Given the description of an element on the screen output the (x, y) to click on. 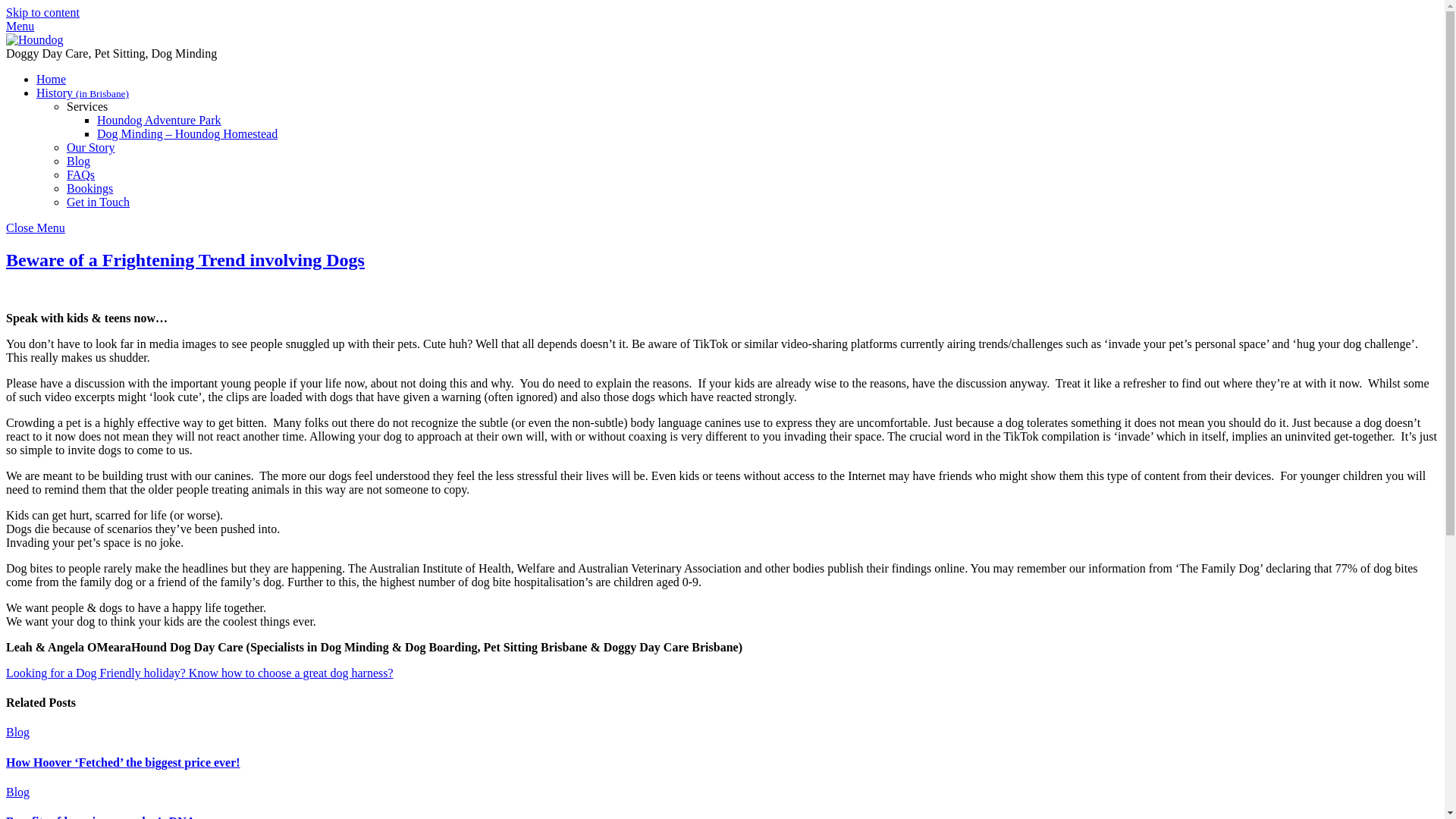
Houndog Adventure Park (159, 119)
Menu (19, 25)
FAQs (80, 174)
Houndog (34, 39)
Close Menu (35, 227)
Blog (17, 791)
Know how to choose a great dog harness? (289, 672)
Blog (78, 160)
Home (50, 78)
Get in Touch (97, 201)
Our Story (90, 146)
Looking for a Dog Friendly holiday? (95, 672)
Services (86, 106)
Bookings (89, 187)
Blog (17, 731)
